Given the description of an element on the screen output the (x, y) to click on. 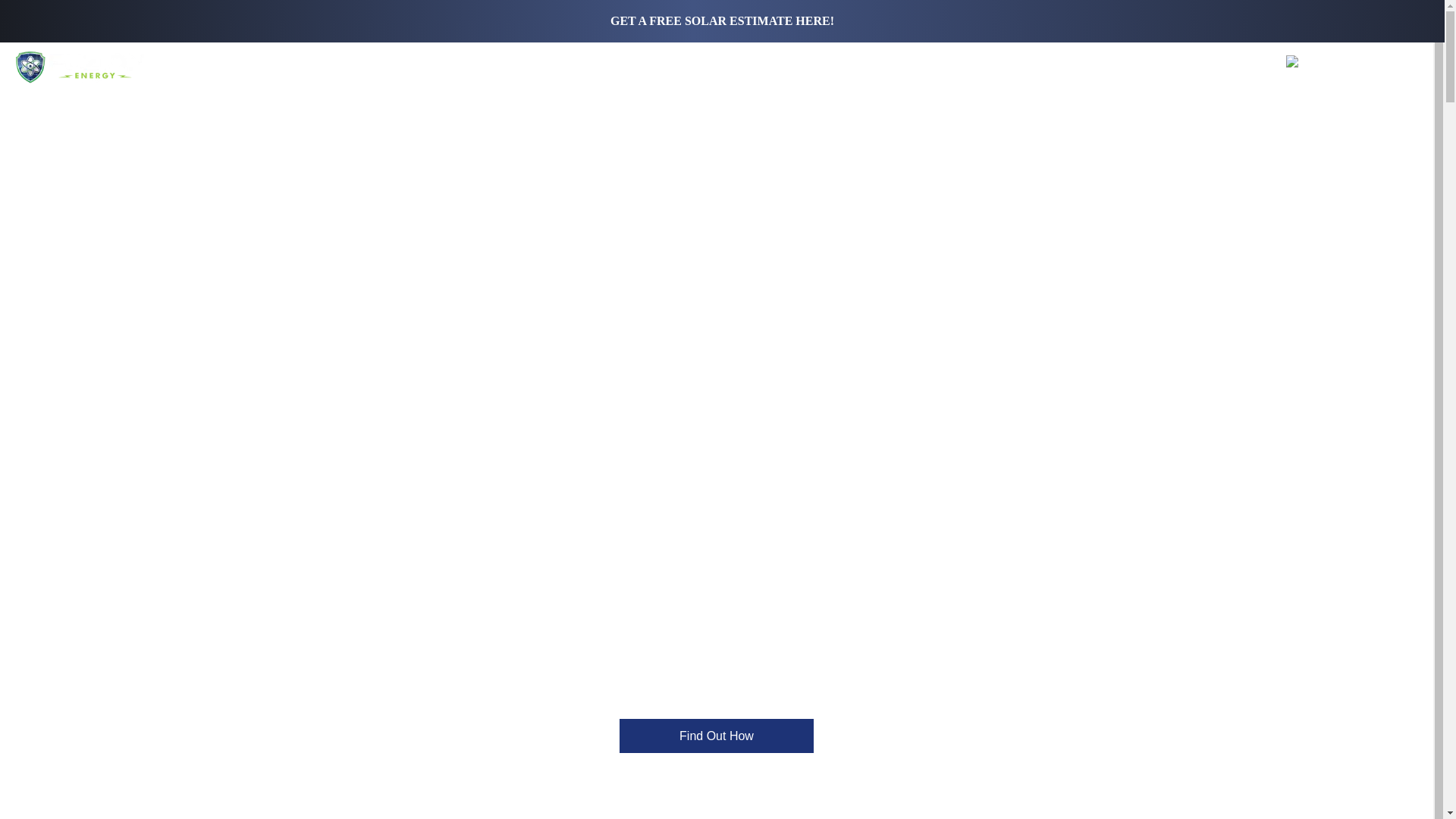
Find Out How (716, 735)
